Given the description of an element on the screen output the (x, y) to click on. 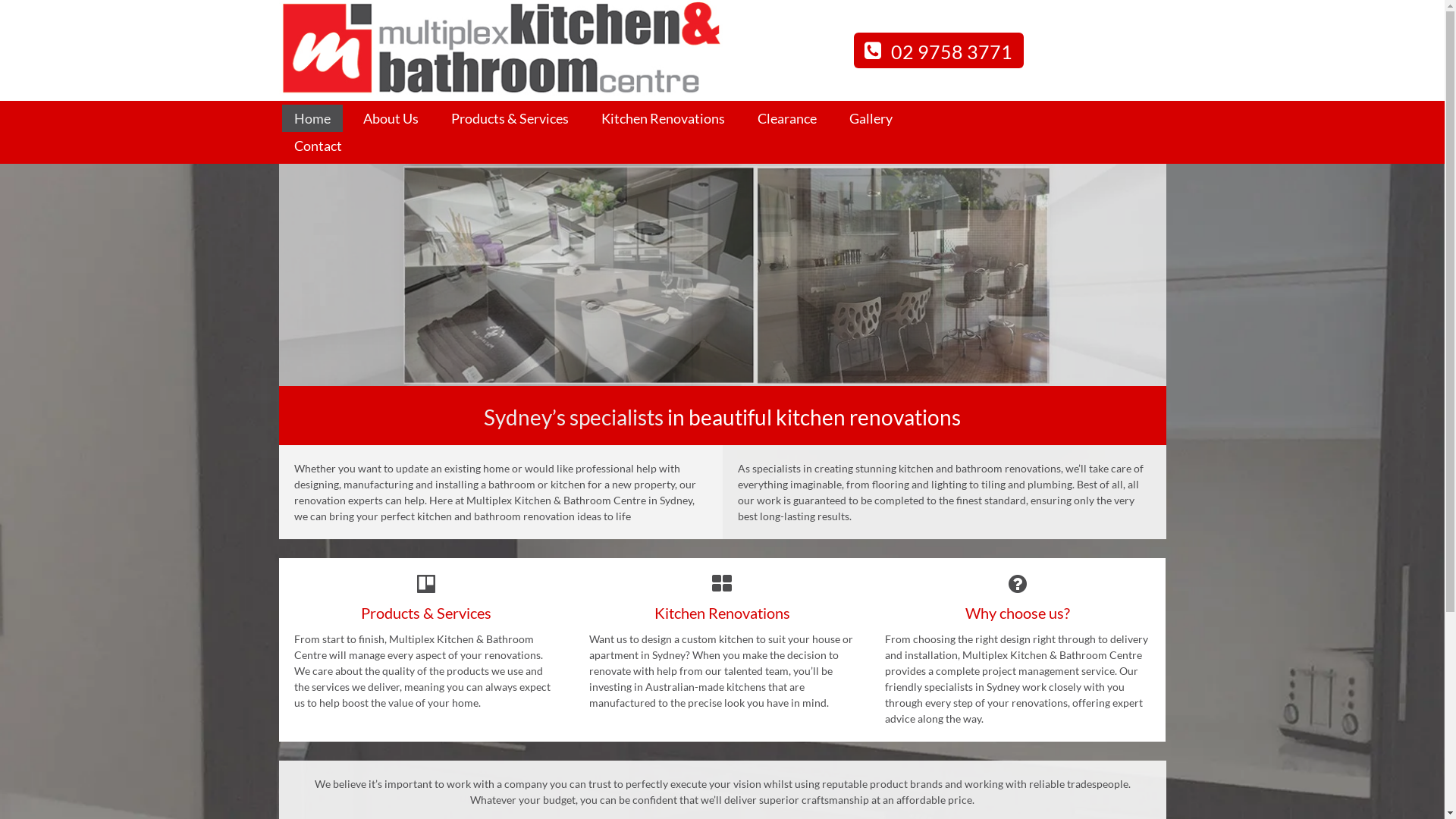
Home Element type: text (312, 118)
02 9758 3771 Element type: text (938, 50)
Products & Services Element type: text (509, 118)
multiplex kitchen and bathroom centre logo Element type: hover (500, 48)
About Us Element type: text (389, 118)
Clearance Element type: text (786, 118)
Kitchen Renovations Element type: text (662, 118)
Gallery Element type: text (870, 118)
Contact Element type: text (318, 145)
